Given the description of an element on the screen output the (x, y) to click on. 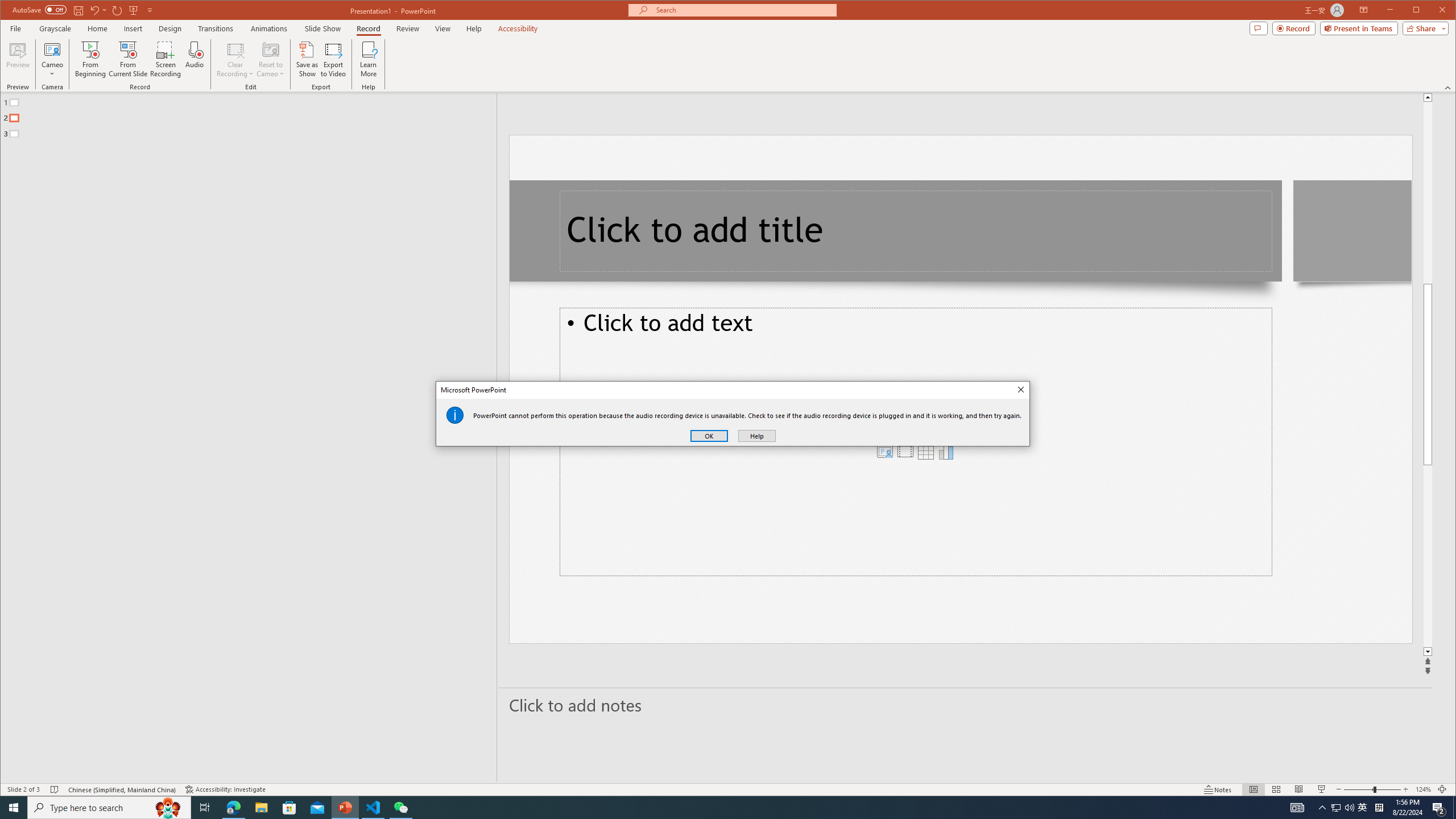
Learn More (368, 59)
